Given the description of an element on the screen output the (x, y) to click on. 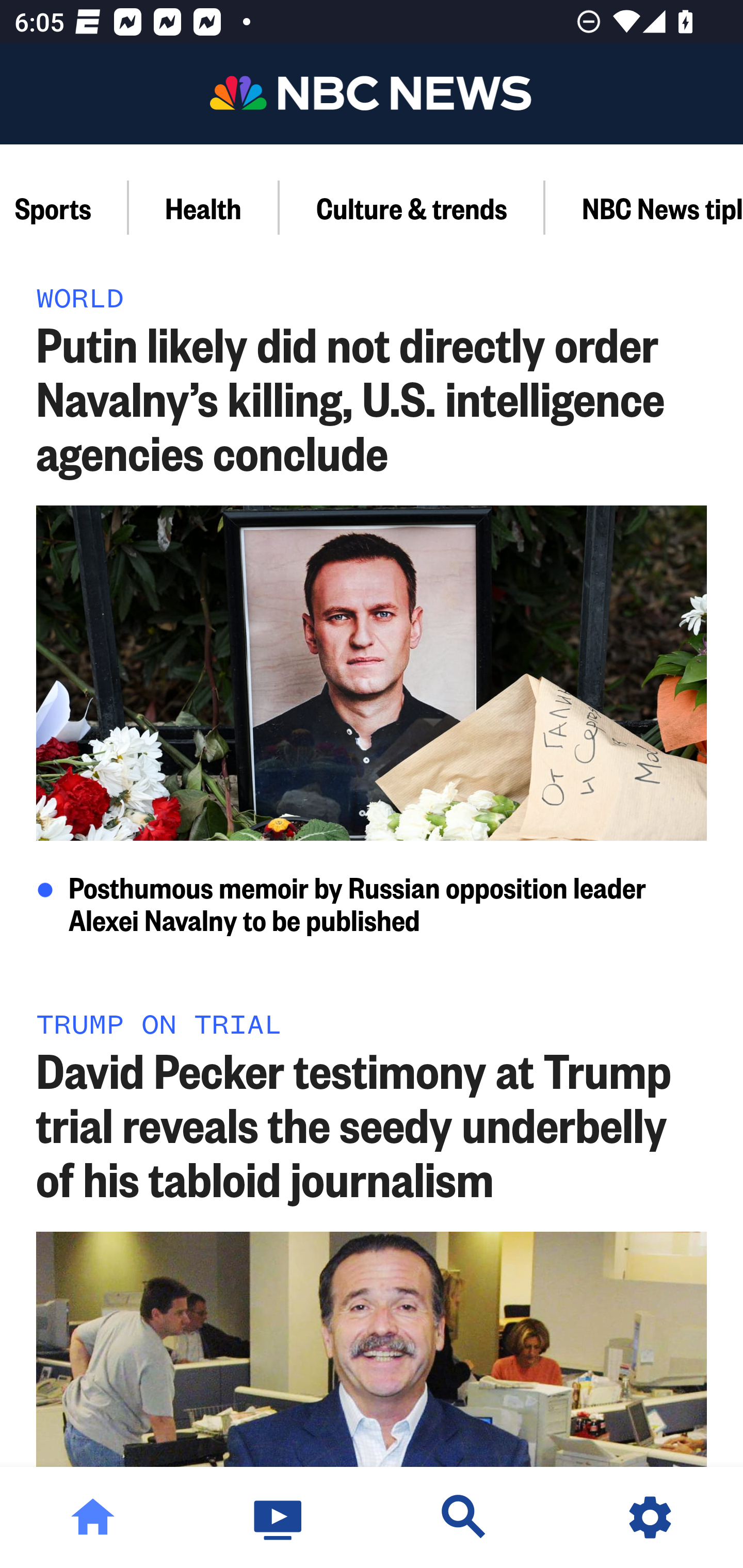
Sports Section,Sports (64, 207)
Health Section,Health (204, 207)
Culture & trends Section,Culture & trends (412, 207)
NBC News tipline (644, 207)
Watch (278, 1517)
Discover (464, 1517)
Settings (650, 1517)
